Given the description of an element on the screen output the (x, y) to click on. 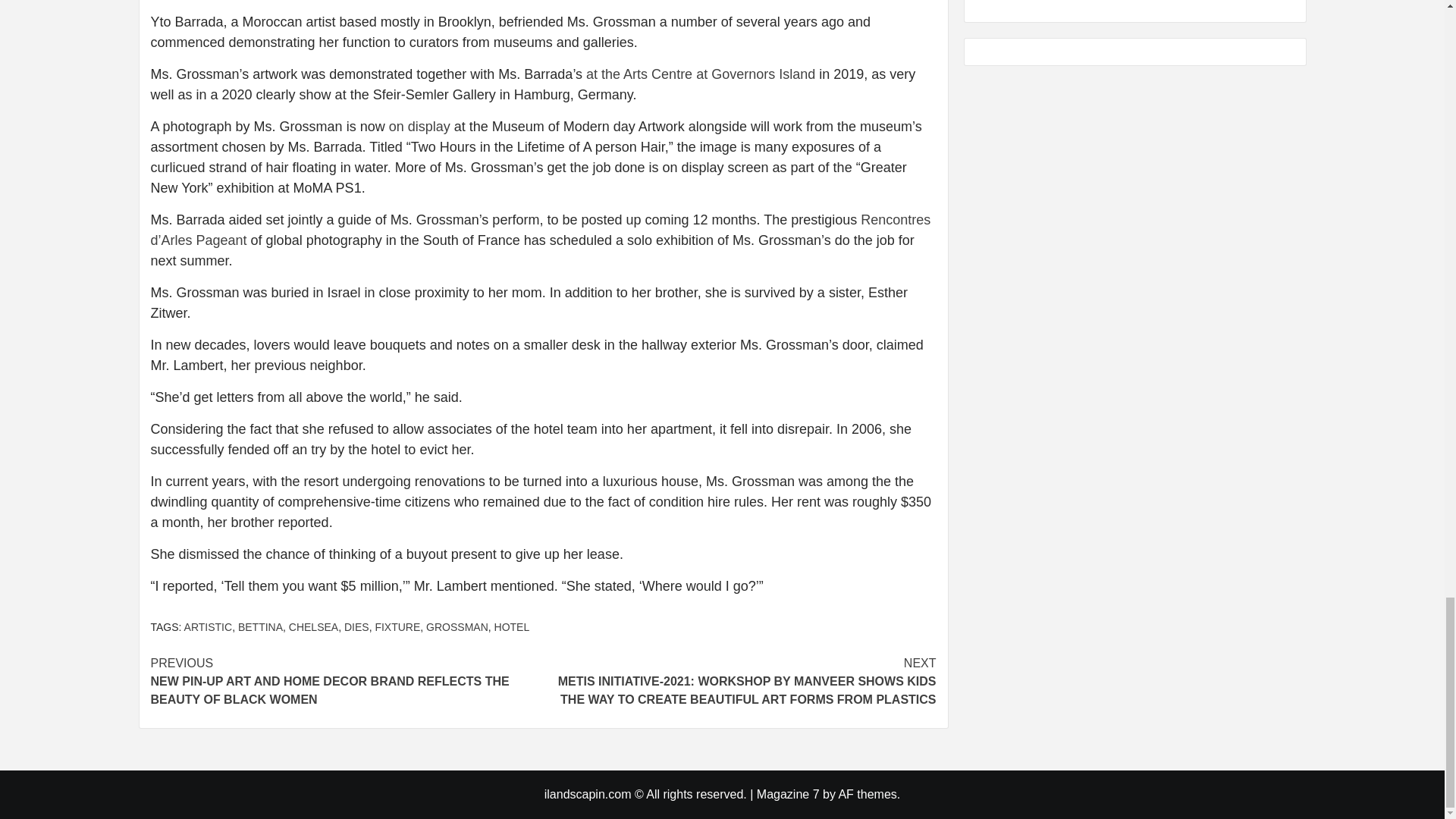
FIXTURE (397, 626)
on display (418, 126)
CHELSEA (312, 626)
GROSSMAN (456, 626)
ARTISTIC (208, 626)
DIES (356, 626)
HOTEL (512, 626)
BETTINA (260, 626)
at the Arts Centre at Governors Island (700, 73)
